Given the description of an element on the screen output the (x, y) to click on. 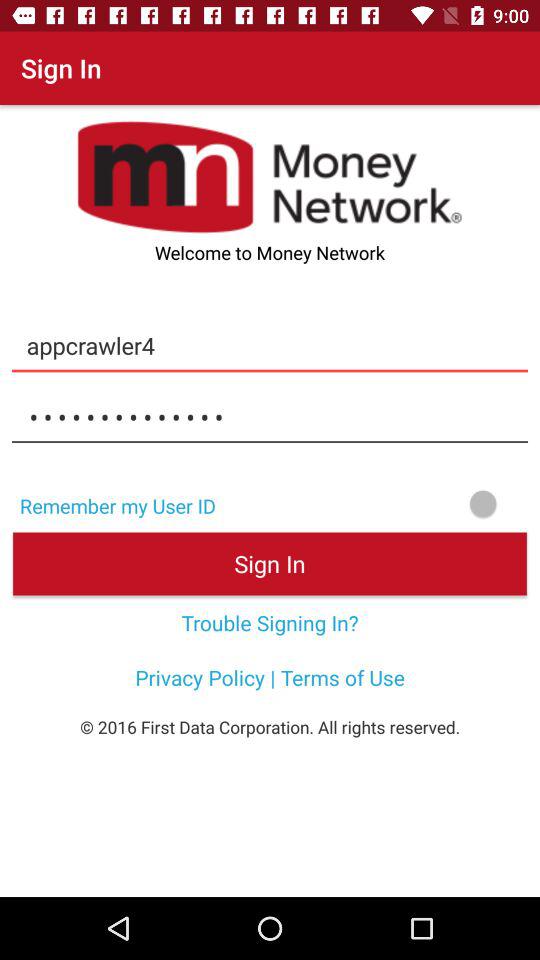
launch item above the appcrawler3116 (269, 345)
